Given the description of an element on the screen output the (x, y) to click on. 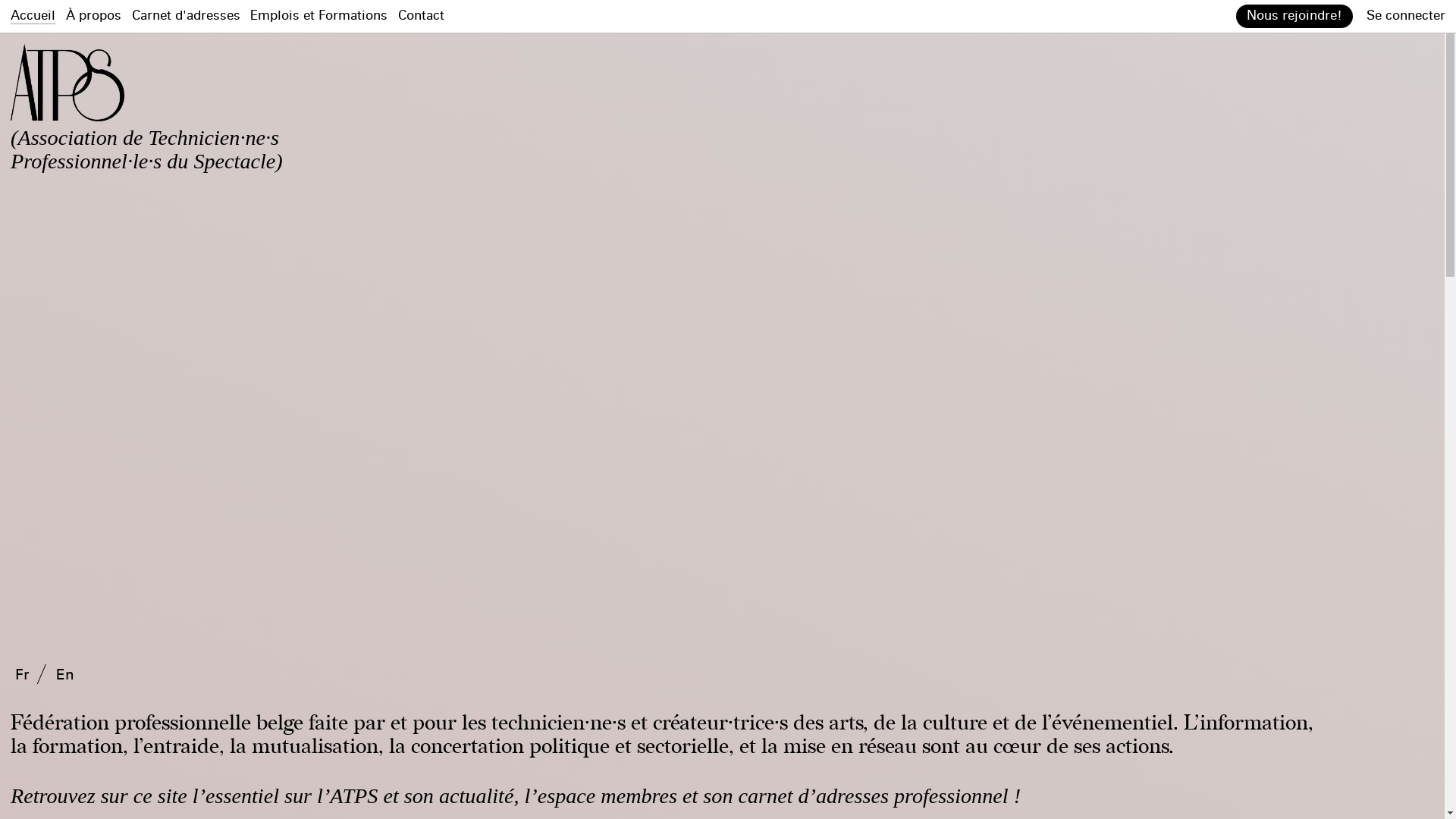
En Element type: text (64, 674)
Carnet d'adresses Element type: text (185, 15)
Emplois et Formations Element type: text (318, 15)
Accueil Element type: text (32, 16)
Fr Element type: text (21, 674)
Contact Element type: text (421, 15)
Nous rejoindre! Element type: text (1294, 16)
Se connecter Element type: text (1405, 15)
